Given the description of an element on the screen output the (x, y) to click on. 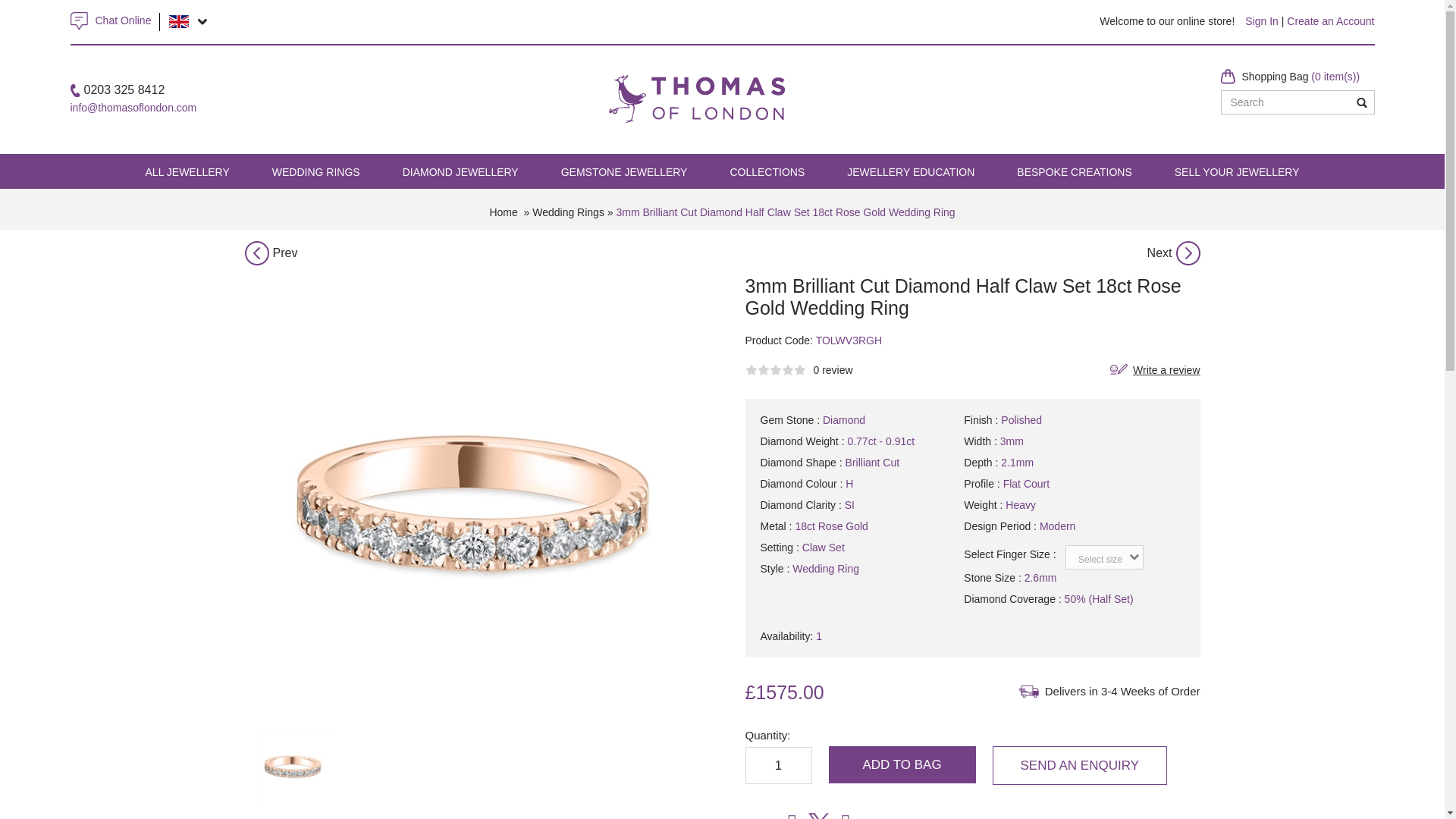
Thomas of London (696, 80)
Create an Account (1330, 21)
Chat Online (123, 20)
My Bag (1300, 76)
Sign In (1261, 21)
Create an Account (1330, 21)
Sign In (1261, 21)
1 (777, 764)
GBP (178, 21)
